Given the description of an element on the screen output the (x, y) to click on. 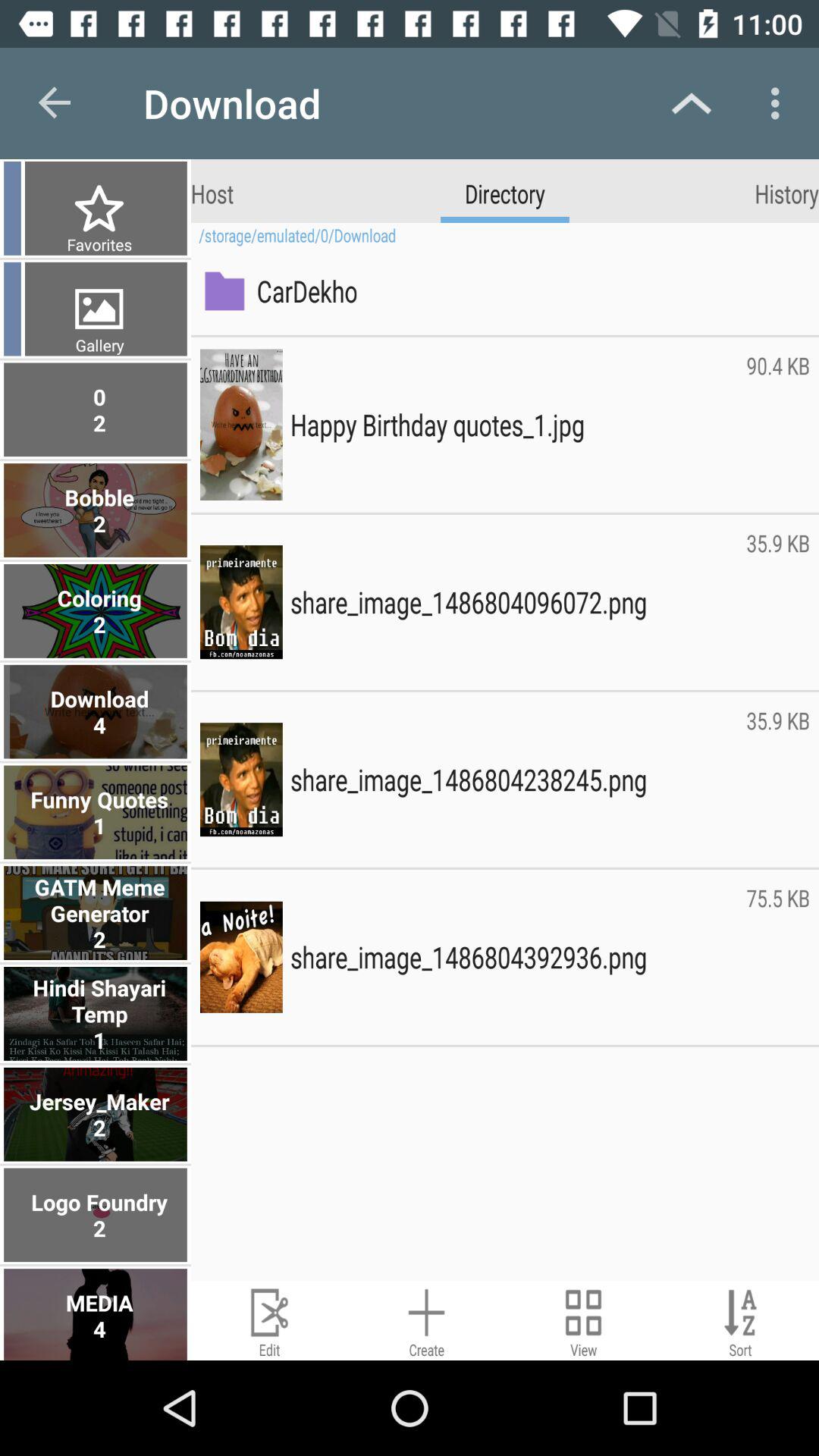
swipe to jersey_maker
2 (97, 1114)
